Given the description of an element on the screen output the (x, y) to click on. 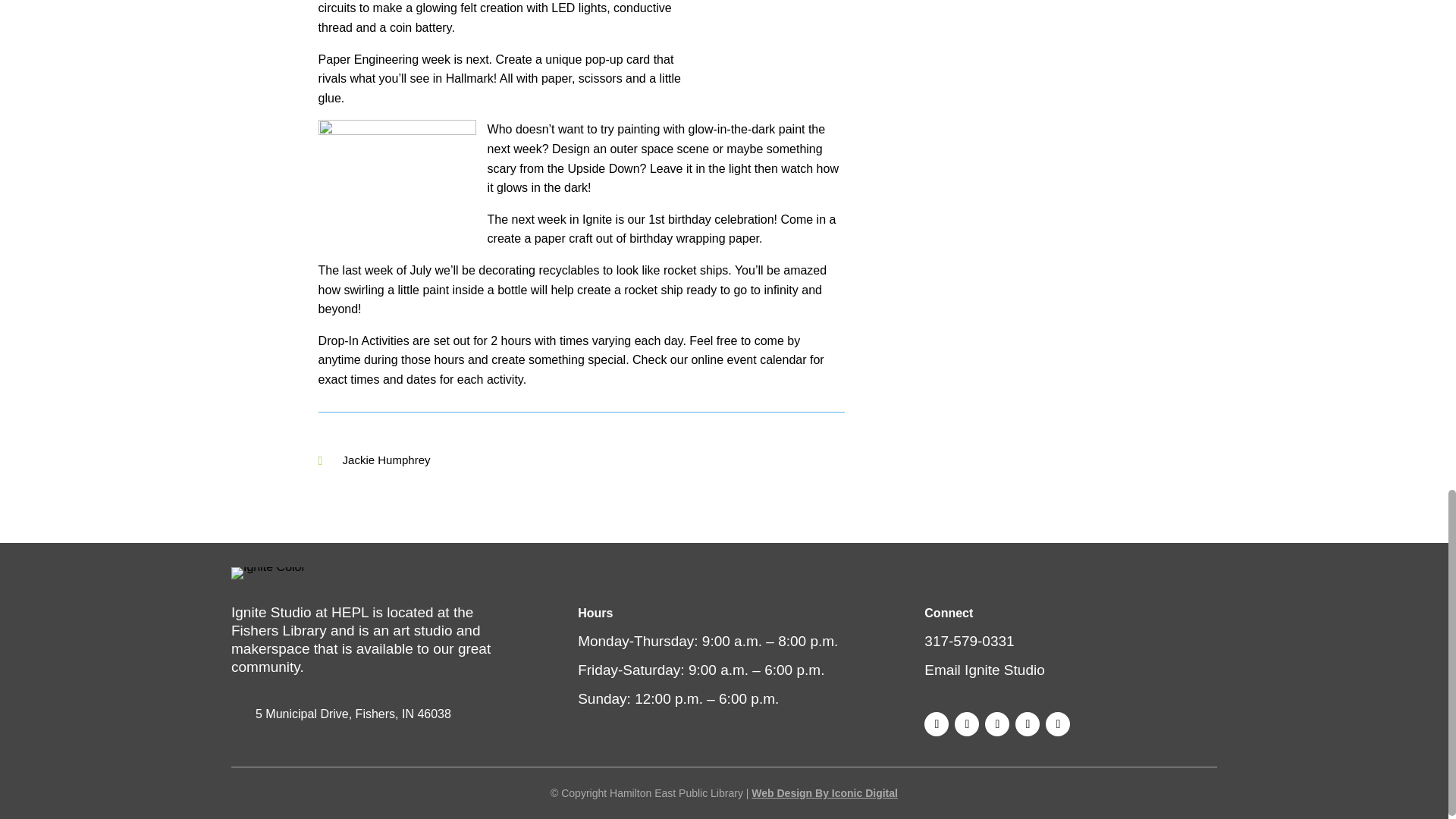
Follow on Youtube (1026, 723)
317-579-0331 (968, 641)
Follow on Facebook (936, 723)
Follow on Instagram (966, 723)
Follow on LinkedIn (1057, 723)
Jackie Humphrey (386, 459)
Ignite Color Reverse (268, 573)
Email Ignite Studio (983, 669)
Follow on X (997, 723)
